Given the description of an element on the screen output the (x, y) to click on. 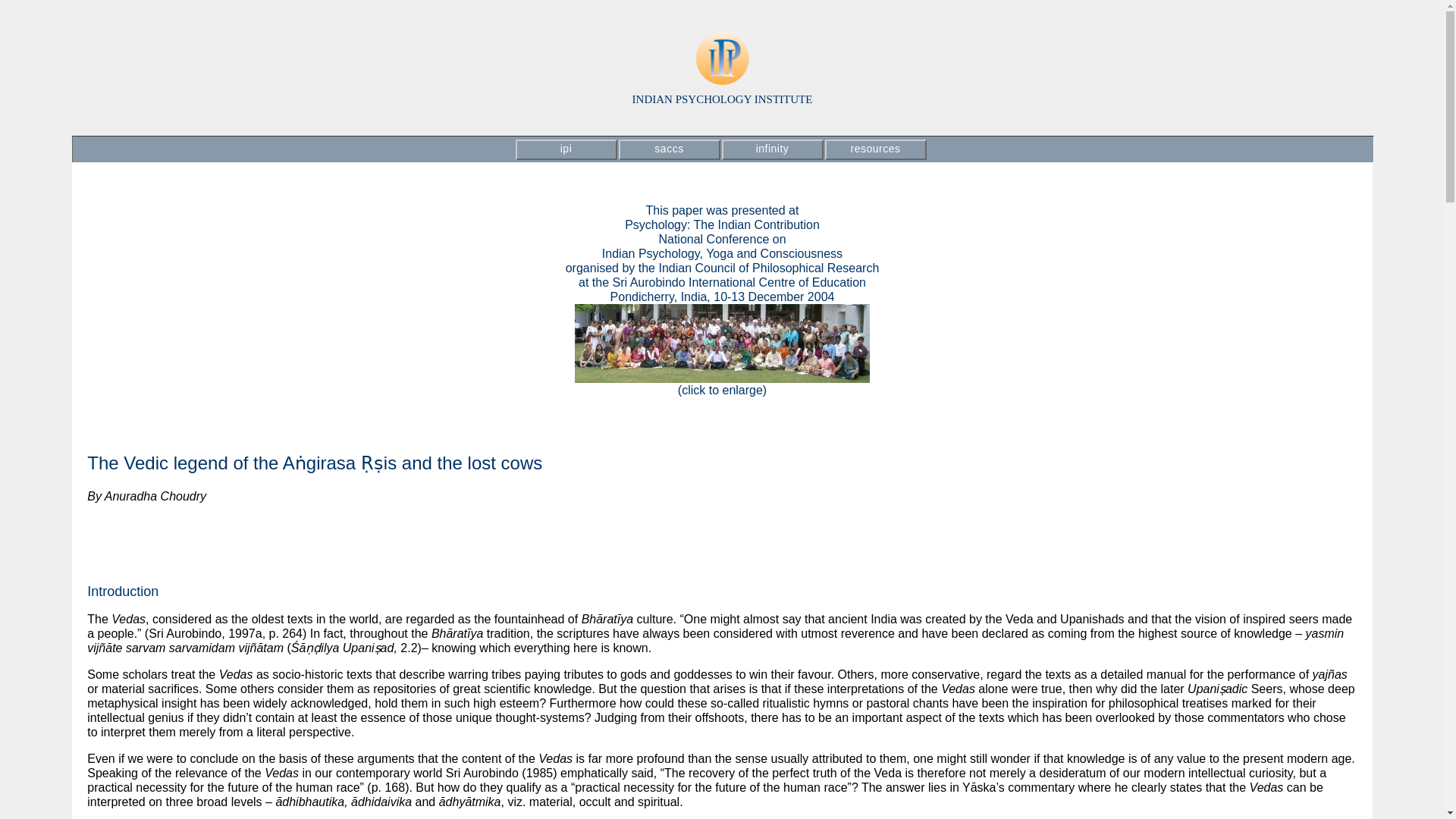
resources (875, 149)
ipi (566, 149)
infinity (773, 149)
saccs (669, 149)
